Given the description of an element on the screen output the (x, y) to click on. 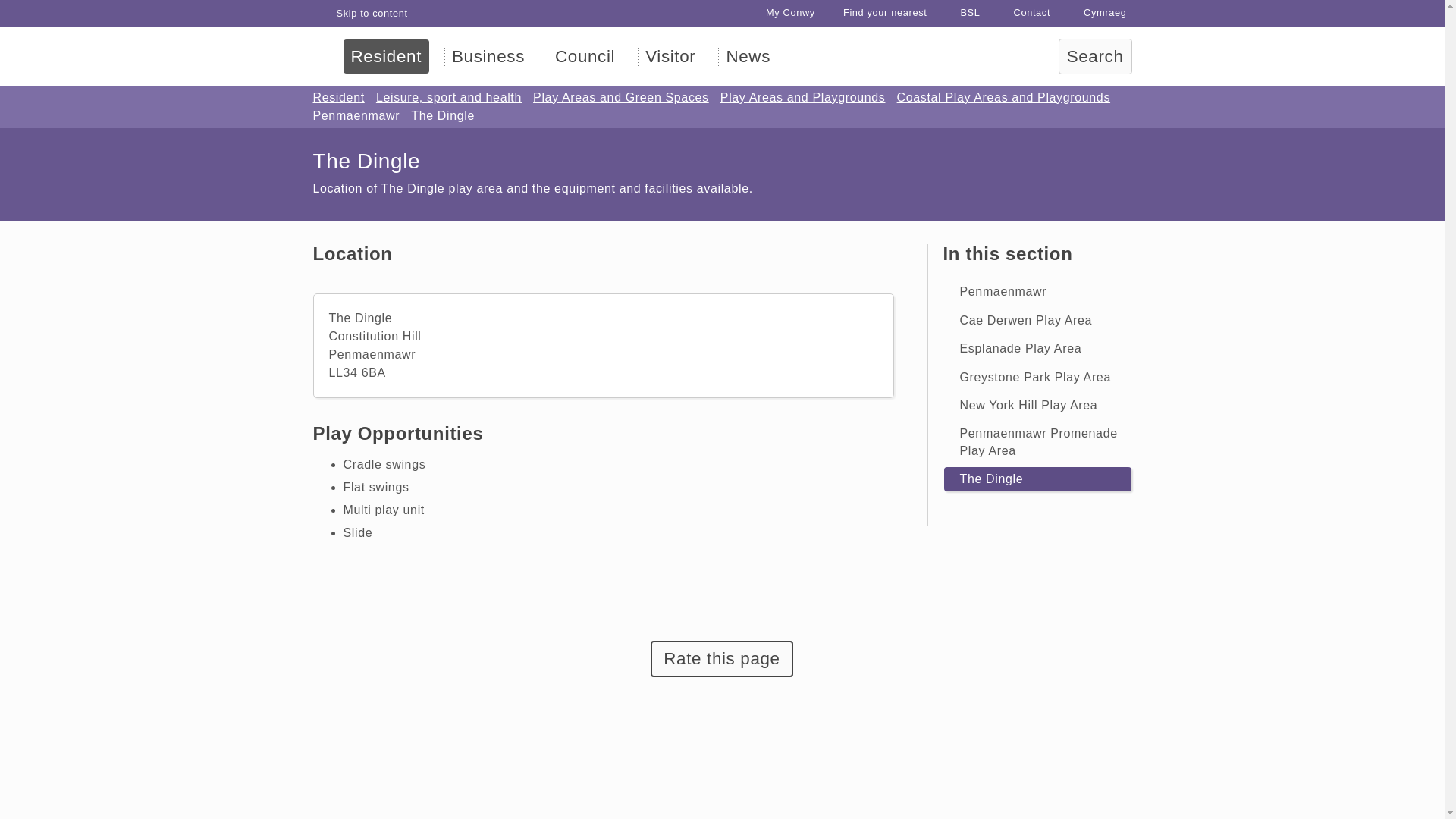
Resident (338, 97)
Go to Resident from here (338, 97)
Rate this page (721, 658)
My Conwy (781, 12)
Cae Derwen Play Area (1037, 320)
Resident (385, 56)
Cymraeg (1095, 11)
Go to Business from here (488, 56)
My Conwy (781, 12)
Go to Play Areas and Playgrounds from here (799, 97)
